Given the description of an element on the screen output the (x, y) to click on. 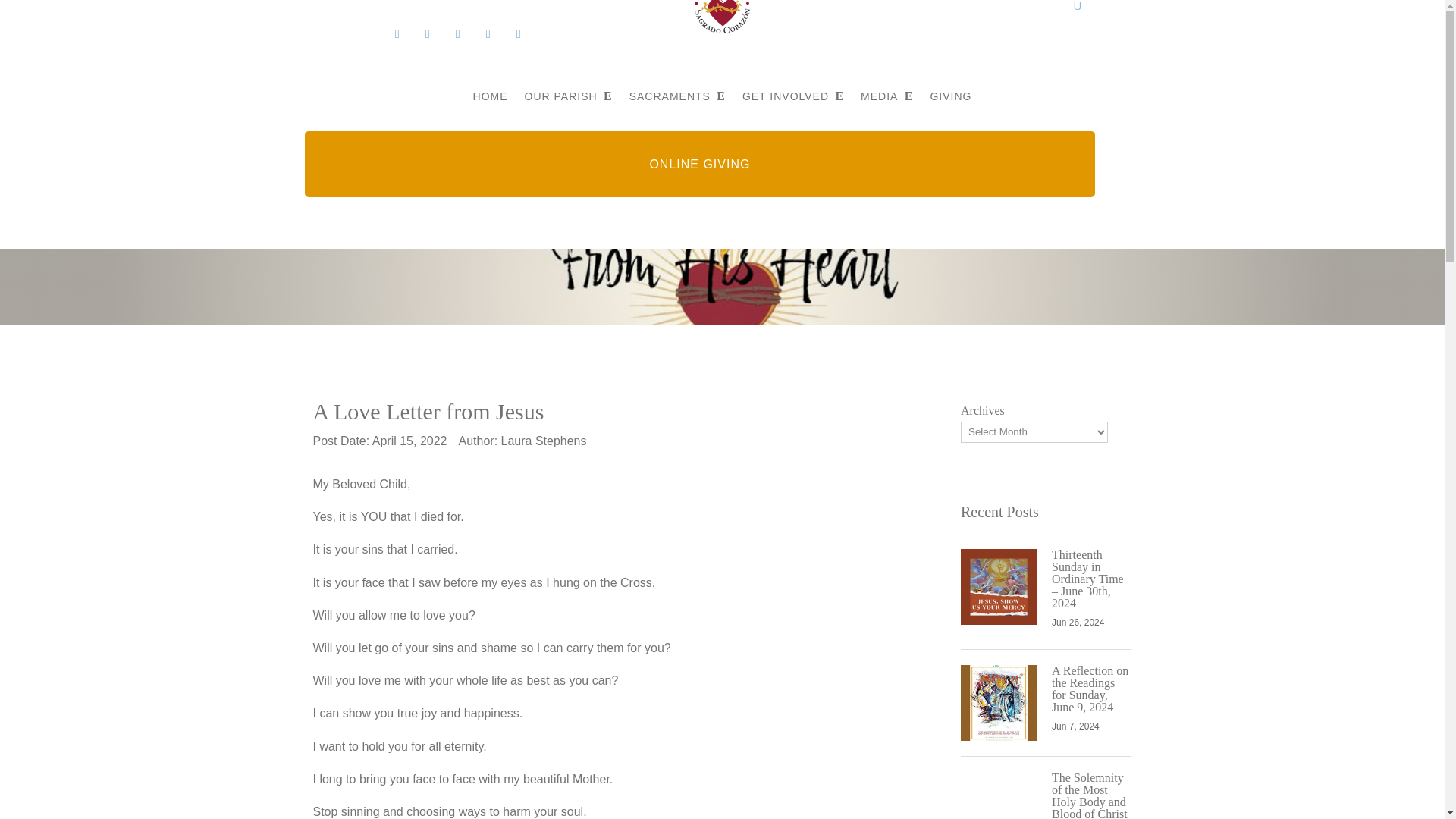
OUR PARISH (568, 96)
Follow on Instagram (426, 33)
Follow on Google (488, 33)
Follow on Youtube (518, 33)
SACRAMENTS (676, 96)
Follow on X (457, 33)
Follow on Facebook (397, 33)
GET INVOLVED (793, 96)
